Given the description of an element on the screen output the (x, y) to click on. 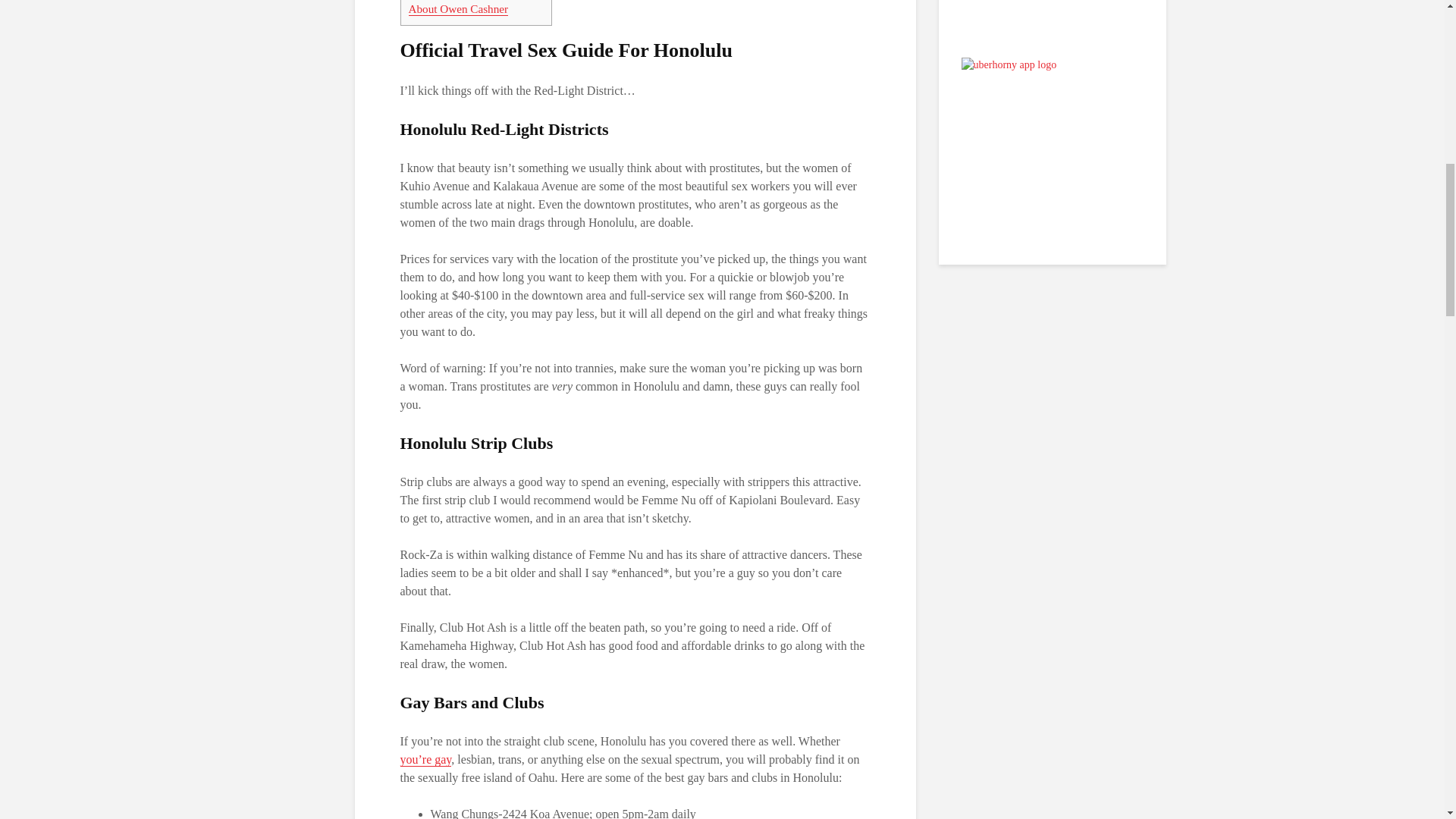
About Owen Cashner (457, 8)
